Given the description of an element on the screen output the (x, y) to click on. 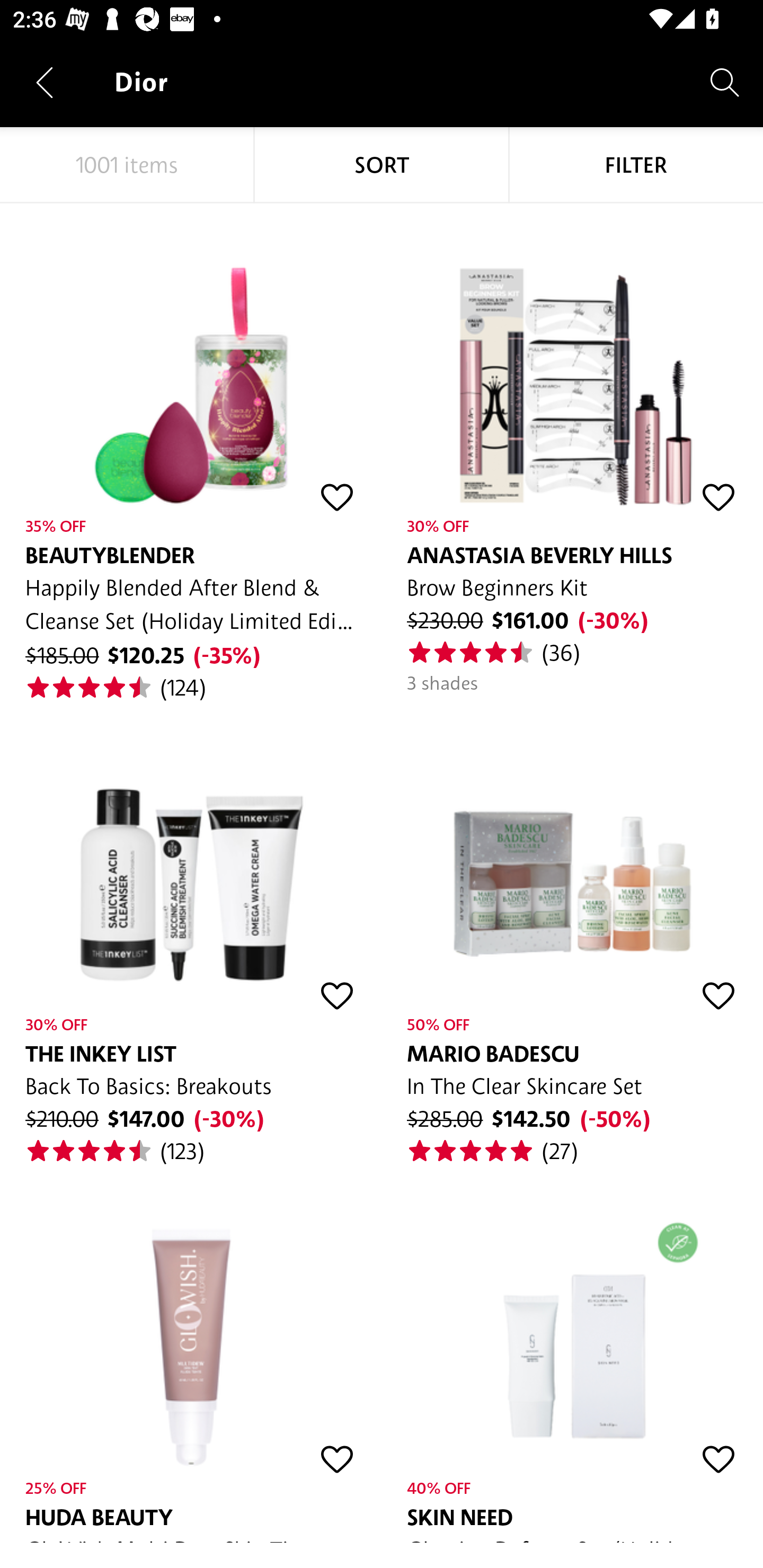
Navigate up (44, 82)
Search (724, 81)
SORT (381, 165)
FILTER (636, 165)
25% OFF HUDA BEAUTY GloWish Multi Dew Skin Tint (190, 1353)
